Given the description of an element on the screen output the (x, y) to click on. 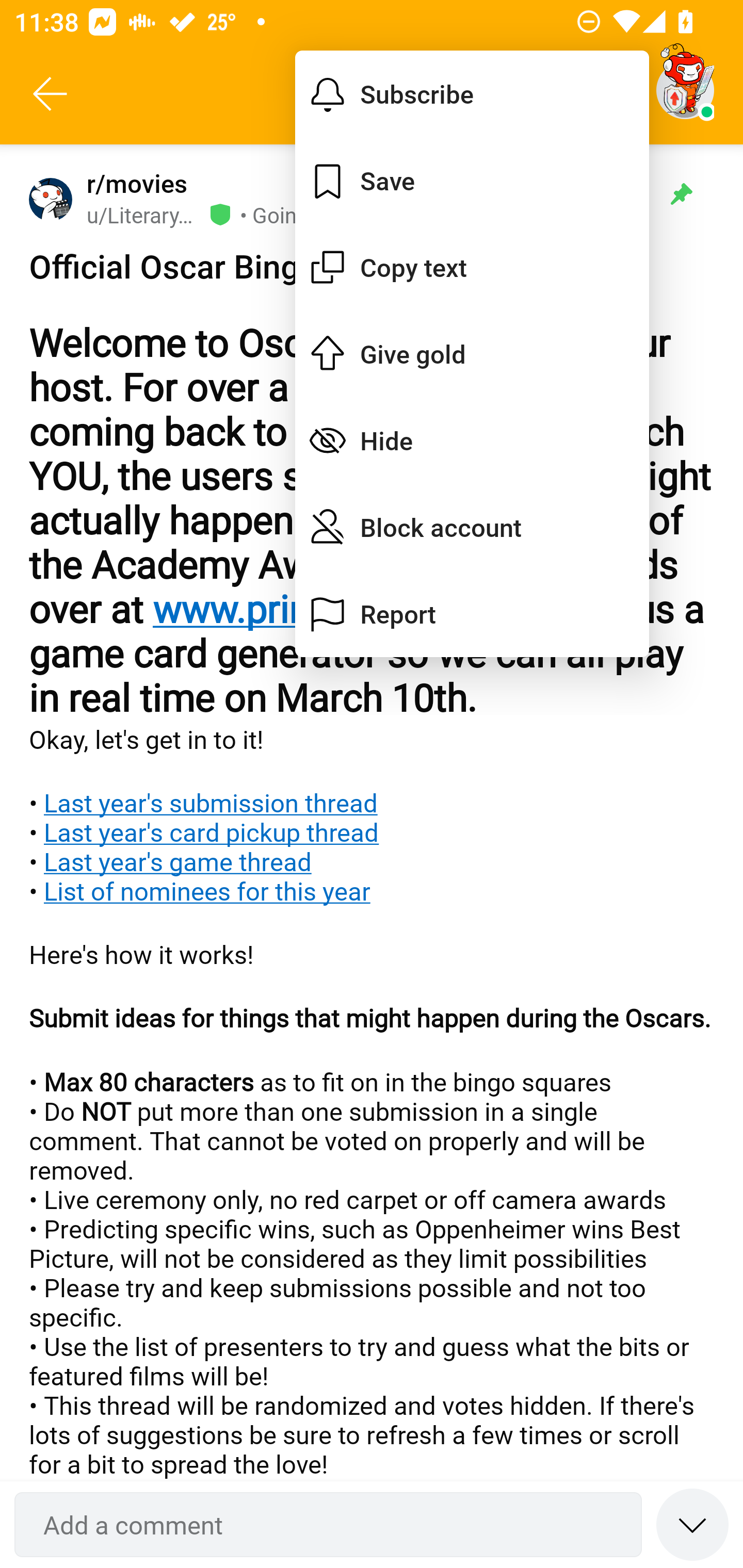
Subscribe (471, 93)
Save (471, 180)
Copy text (471, 267)
Give gold (471, 353)
Hide (471, 440)
Block account (471, 527)
Report (471, 613)
